Given the description of an element on the screen output the (x, y) to click on. 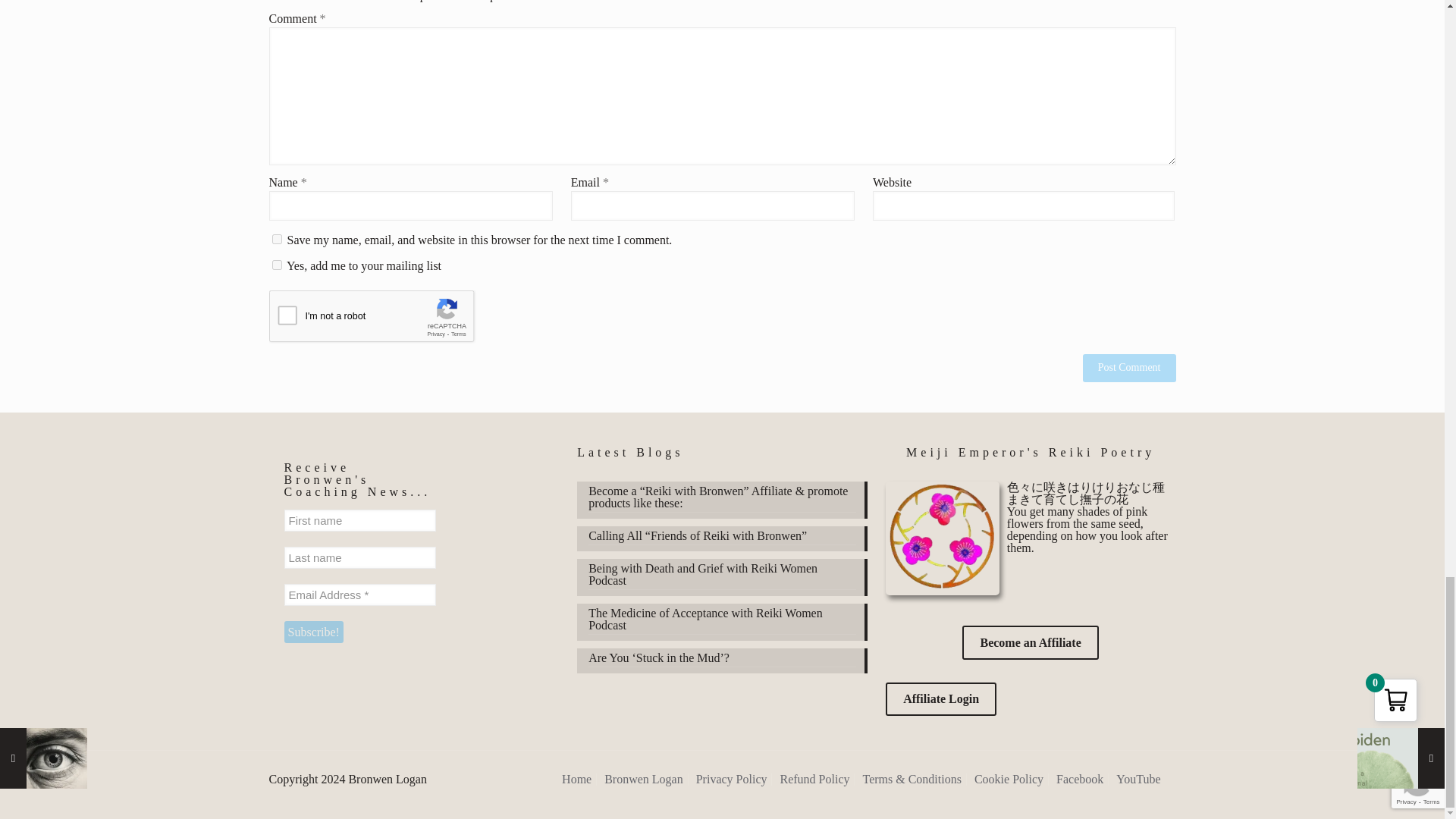
yes (275, 239)
Post Comment (1129, 367)
reCAPTCHA (383, 319)
Email Address (359, 594)
First name (359, 520)
Subscribe! (312, 631)
Last name (359, 557)
1 (275, 265)
